Given the description of an element on the screen output the (x, y) to click on. 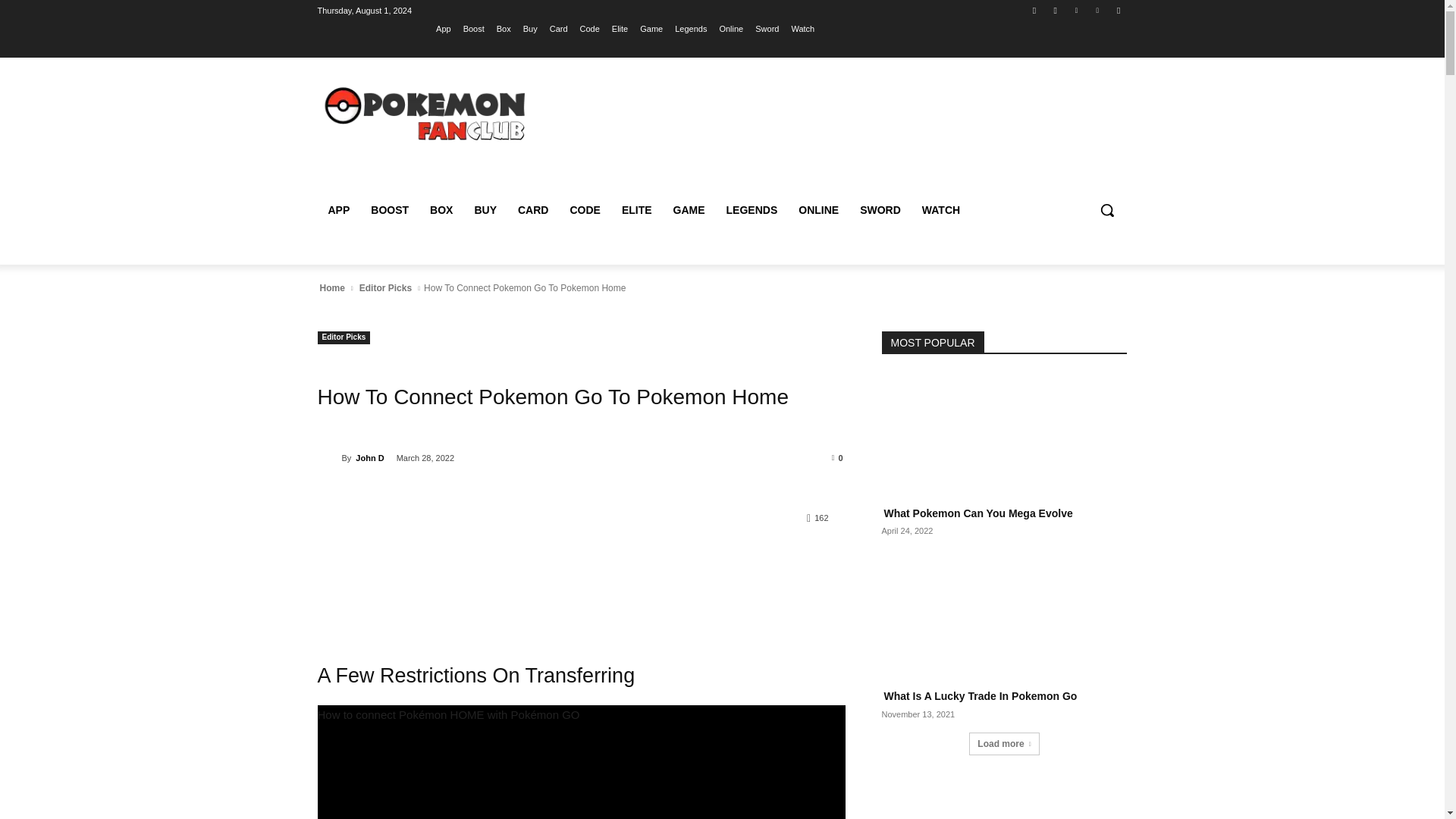
Youtube (1117, 9)
Online (730, 28)
Instagram (1055, 9)
Vimeo (1097, 9)
Twitter (1075, 9)
Pokemon Fan Club (426, 113)
Game (651, 28)
View all posts in Editor Picks (384, 287)
Sword (766, 28)
Legends (690, 28)
Code (589, 28)
Watch (801, 28)
John D (328, 458)
Facebook (1034, 9)
Boost (473, 28)
